Given the description of an element on the screen output the (x, y) to click on. 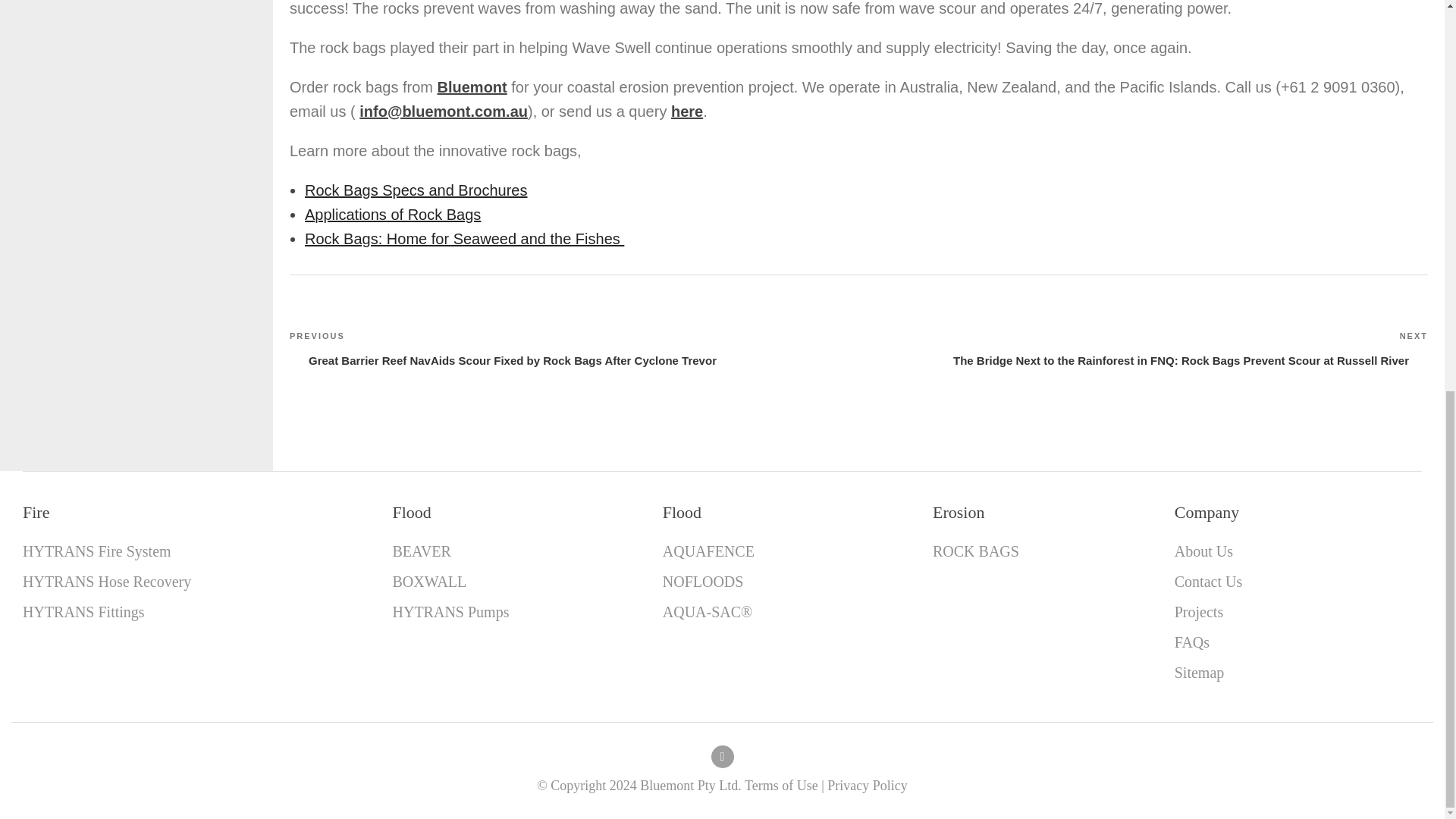
Bluemont (472, 86)
Rock Bags Specs and Brochures (415, 190)
here (687, 111)
Applications of Rock Bags (392, 214)
